Given the description of an element on the screen output the (x, y) to click on. 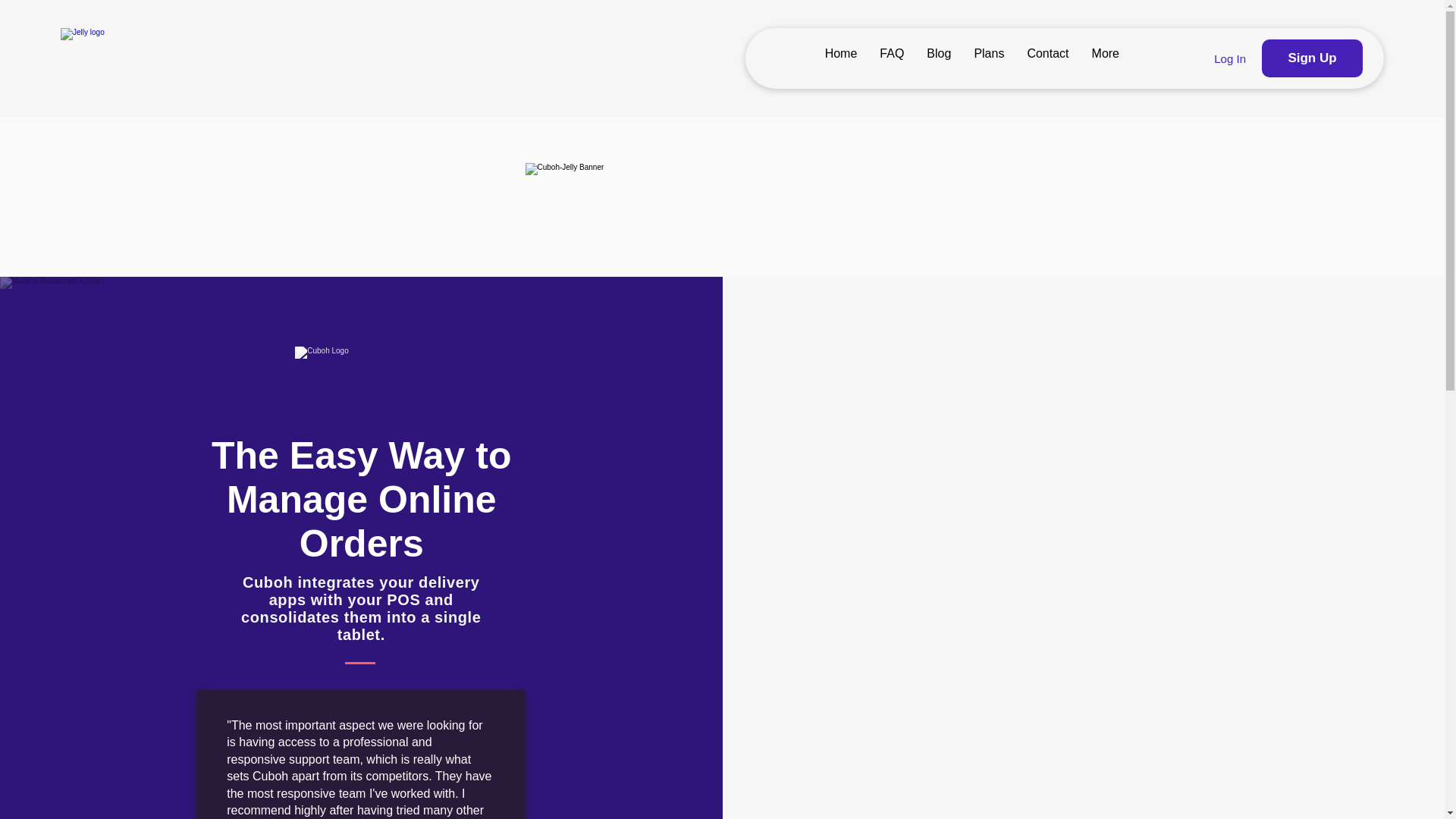
Contact (1047, 57)
Home (841, 57)
Log In (1230, 57)
Sign Up (1312, 57)
Plans (988, 57)
Blog (938, 57)
FAQ (891, 57)
